Given the description of an element on the screen output the (x, y) to click on. 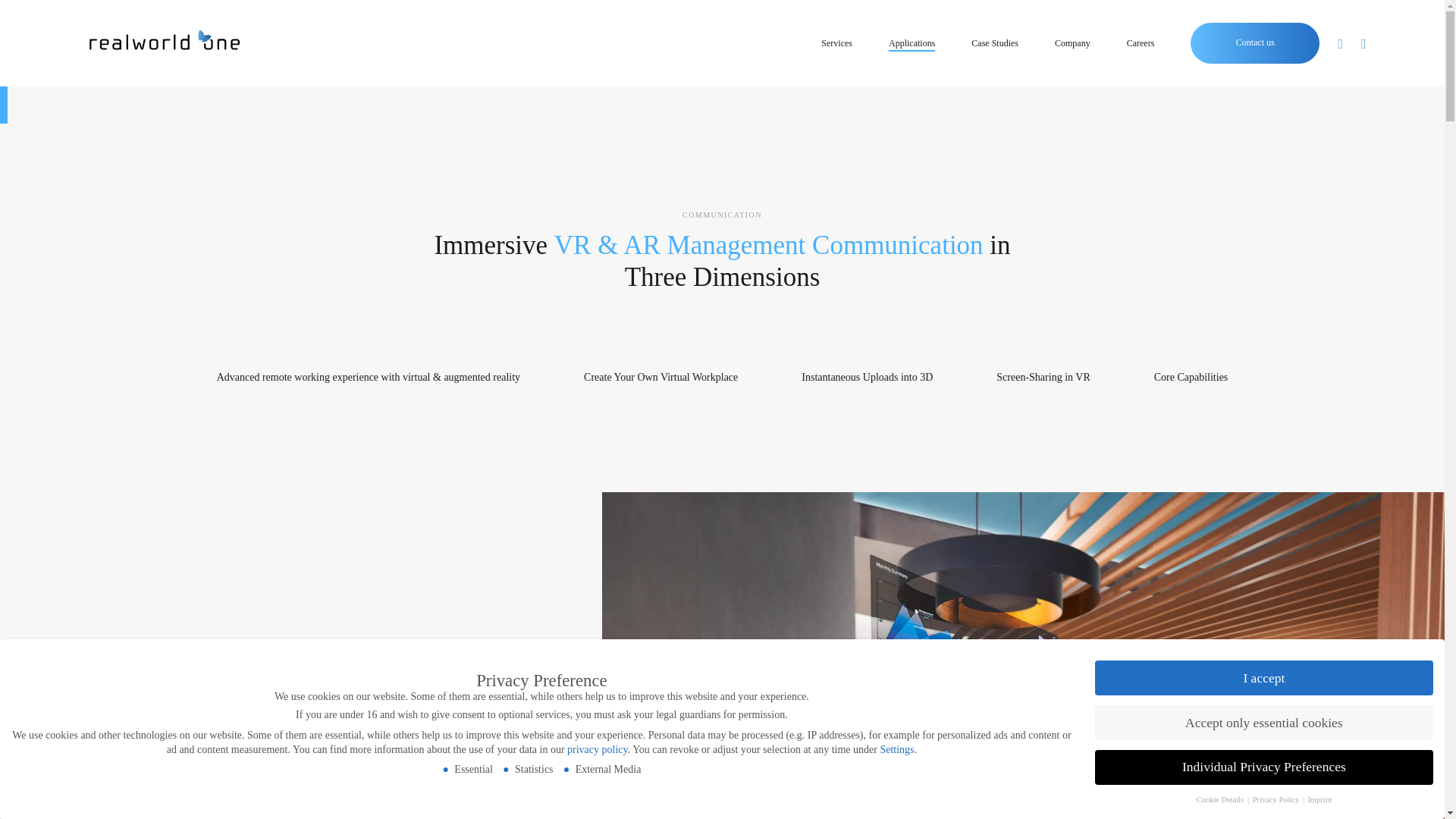
Create Your Own Virtual Workplace (660, 377)
Instantaneous Uploads into 3D (867, 377)
Case Studies (994, 44)
Careers (1140, 44)
Core Capabilities (1191, 377)
Contact us (1255, 43)
Screen-Sharing in VR (1042, 377)
Services (836, 44)
Company (1072, 44)
Applications (911, 44)
